Given the description of an element on the screen output the (x, y) to click on. 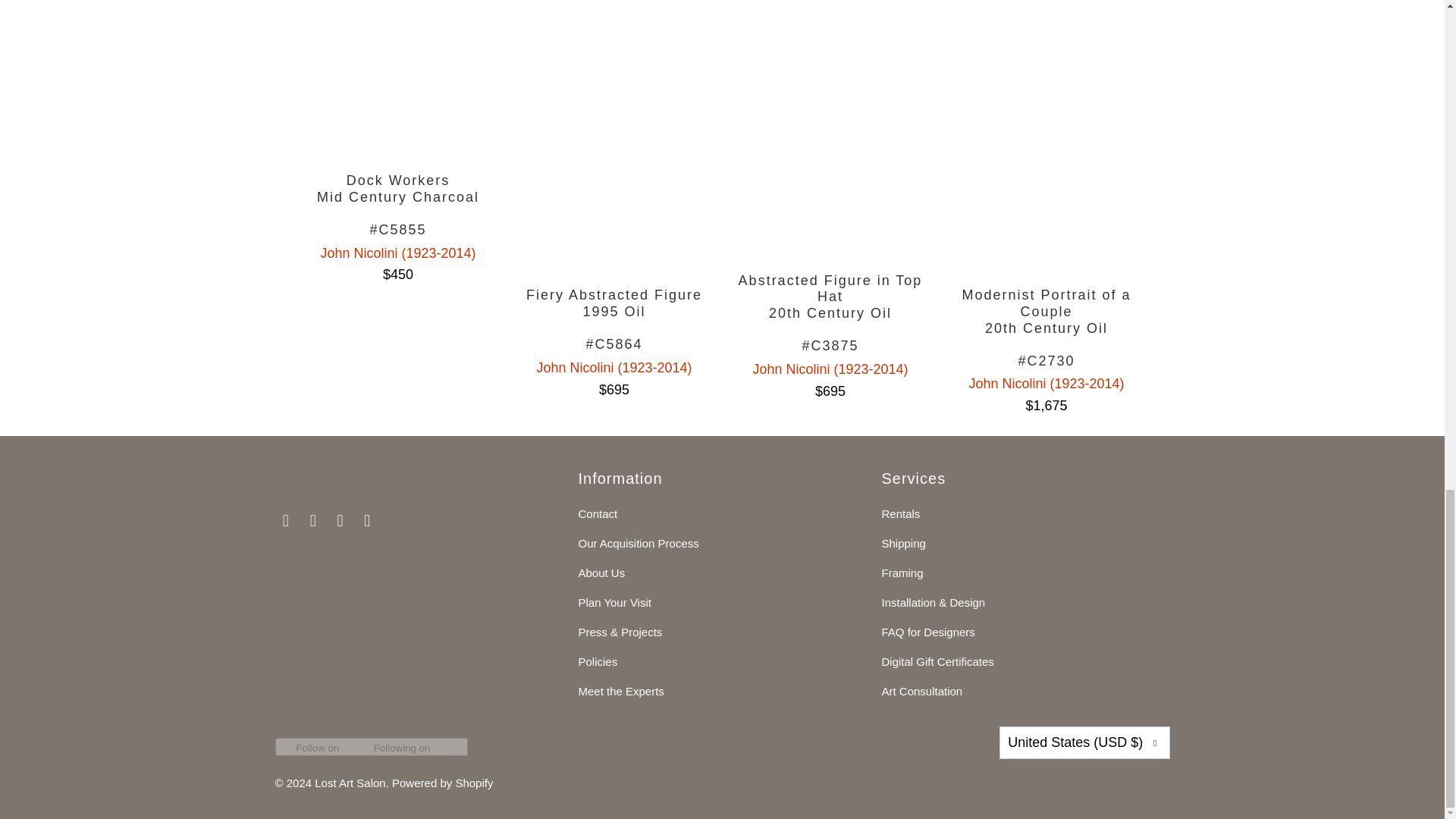
Lost Art Salon on Facebook (312, 520)
Lost Art Salon on Pinterest (367, 520)
Lost Art Salon on Instagram (340, 520)
Email Lost Art Salon (286, 520)
